Given the description of an element on the screen output the (x, y) to click on. 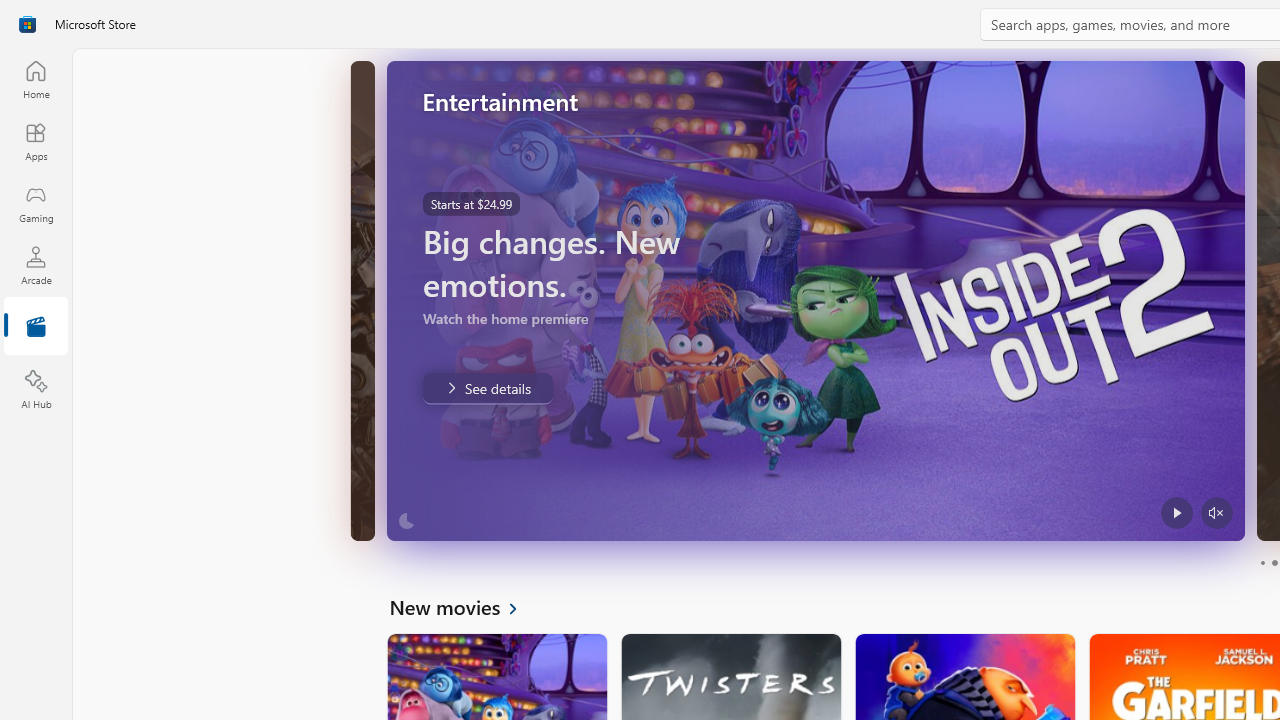
Unmute (1215, 512)
Entertainment (35, 327)
Play Trailer (1175, 512)
Page 2 (1274, 562)
Arcade (35, 265)
AI Hub (35, 390)
Class: Image (27, 24)
Home (35, 79)
Page 1 (1261, 562)
AutomationID: Image (815, 300)
See all  New movies (464, 606)
Apps (35, 141)
Gaming (35, 203)
